Given the description of an element on the screen output the (x, y) to click on. 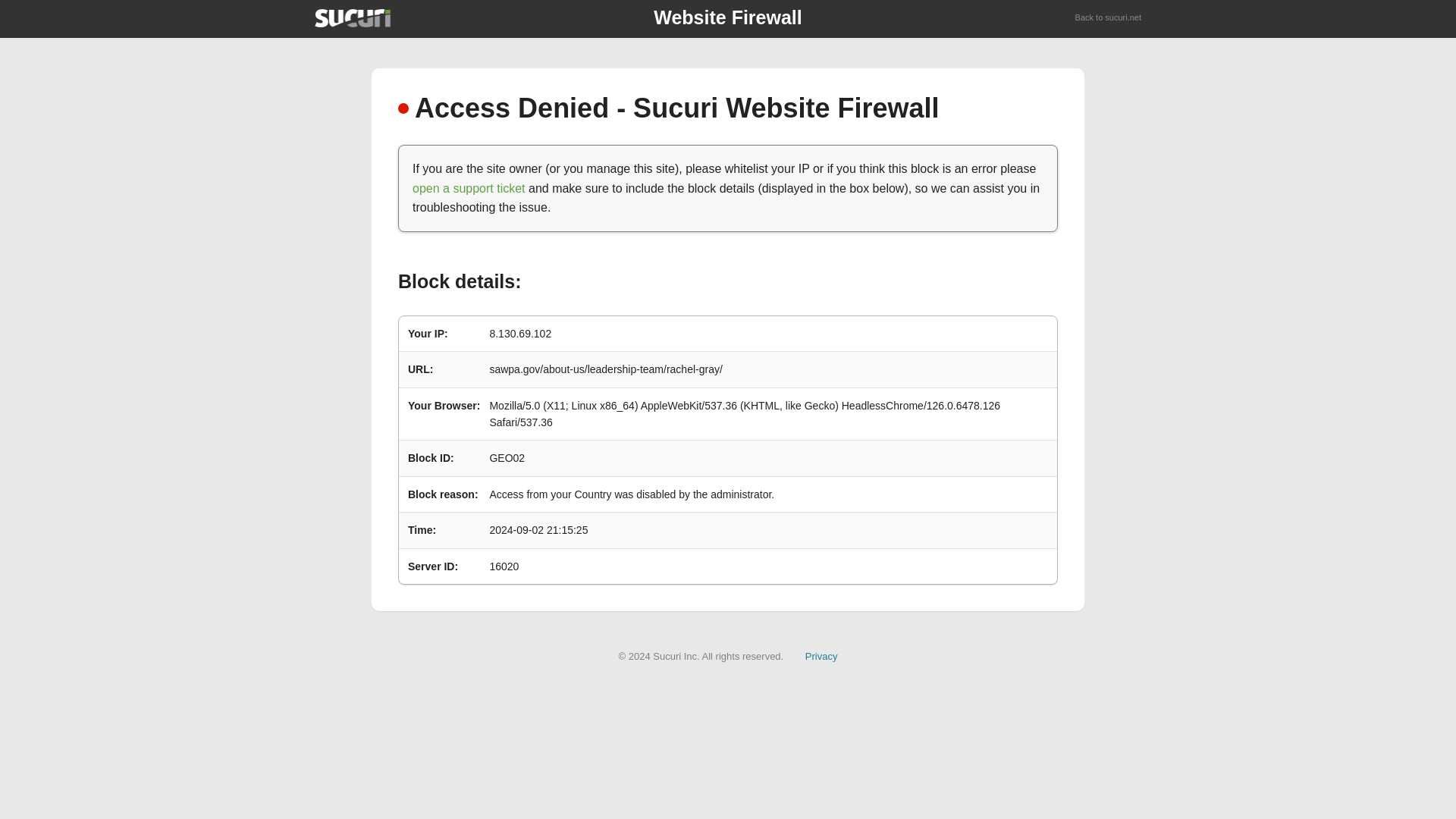
open a support ticket (468, 187)
Privacy (821, 655)
Back to sucuri.net (1108, 18)
